Given the description of an element on the screen output the (x, y) to click on. 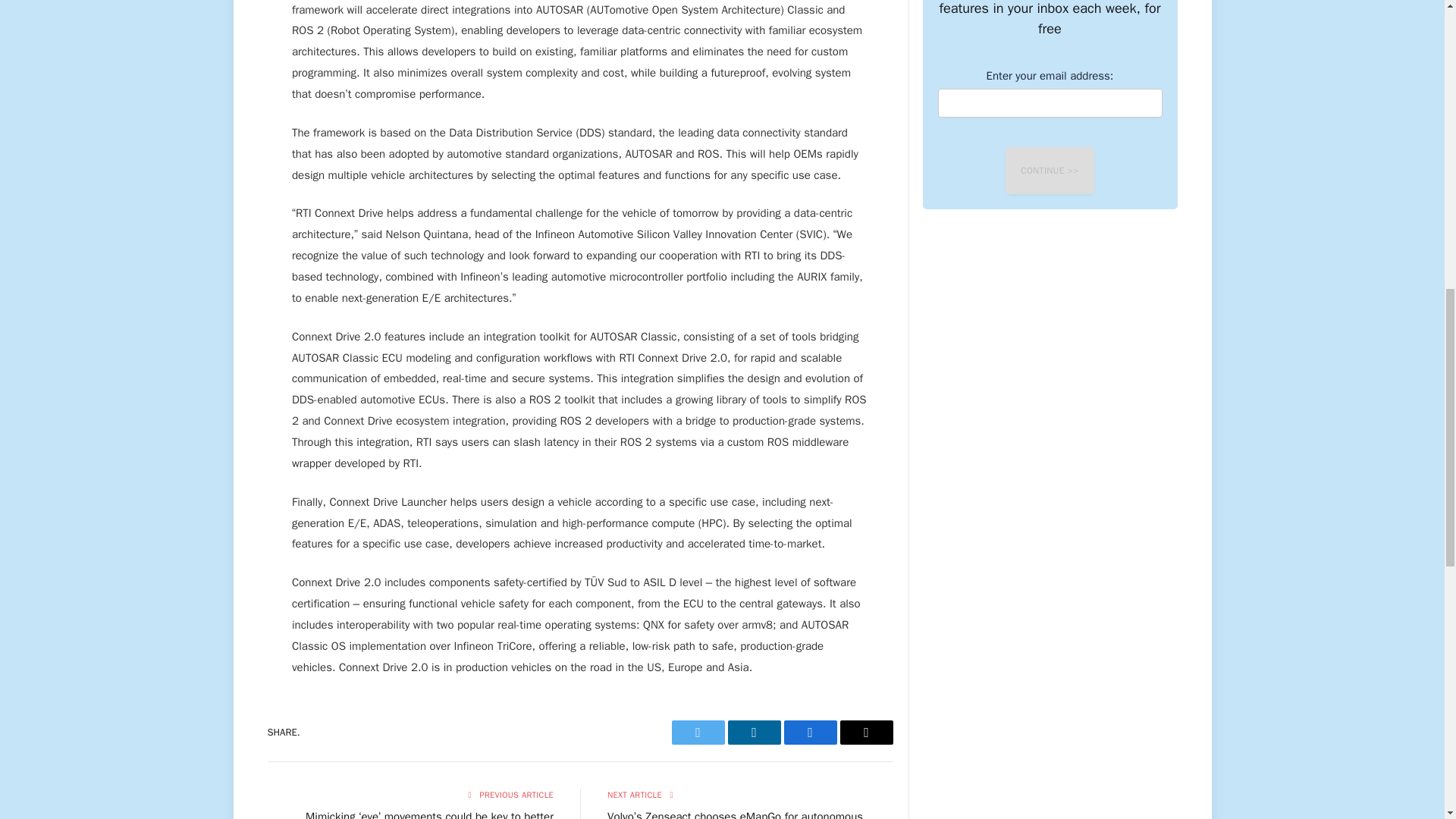
Share on LinkedIn (754, 732)
